Given the description of an element on the screen output the (x, y) to click on. 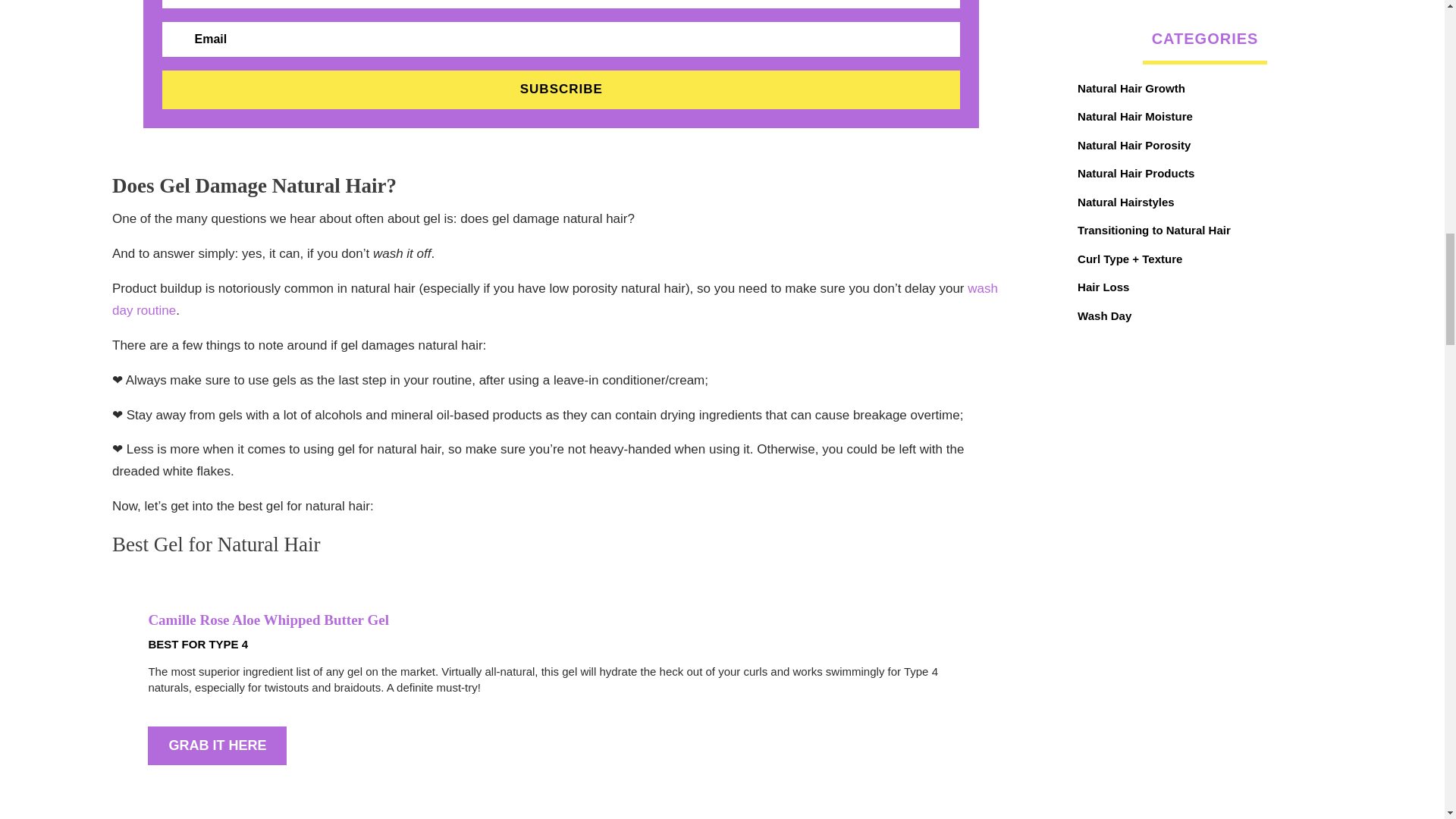
SUBSCRIBE (560, 89)
GRAB IT HERE (217, 745)
wash day routine (554, 299)
